Given the description of an element on the screen output the (x, y) to click on. 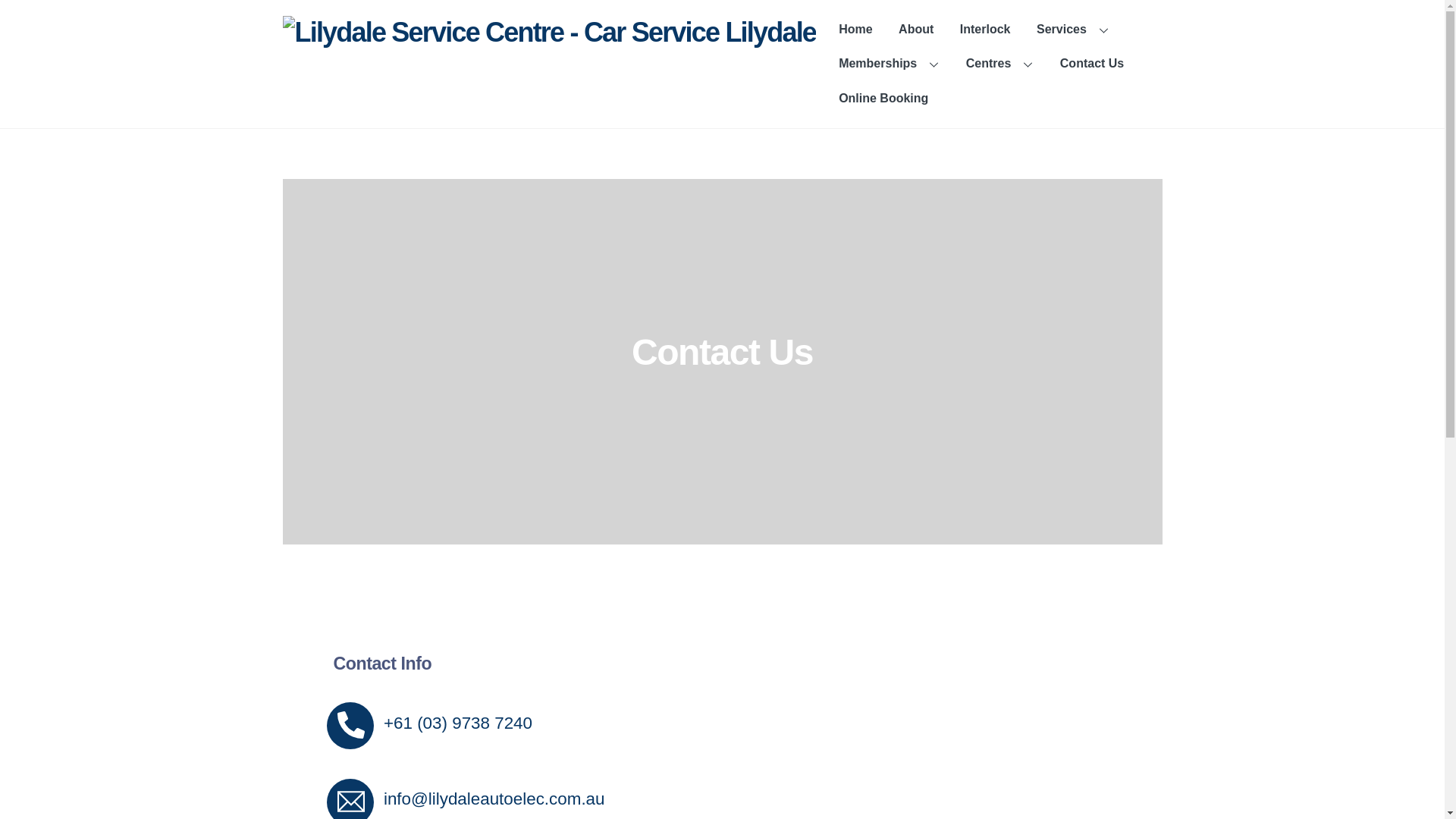
About Element type: text (915, 29)
Services Element type: text (1072, 29)
Lilydale Service Centre - Car Service Lilydale Element type: hover (548, 31)
Home Element type: text (855, 29)
Memberships Element type: text (888, 64)
logo-copy Element type: hover (548, 31)
Interlock Element type: text (985, 29)
Contact Us Element type: text (1091, 64)
Centres Element type: text (999, 64)
Online Booking Element type: text (883, 98)
